Given the description of an element on the screen output the (x, y) to click on. 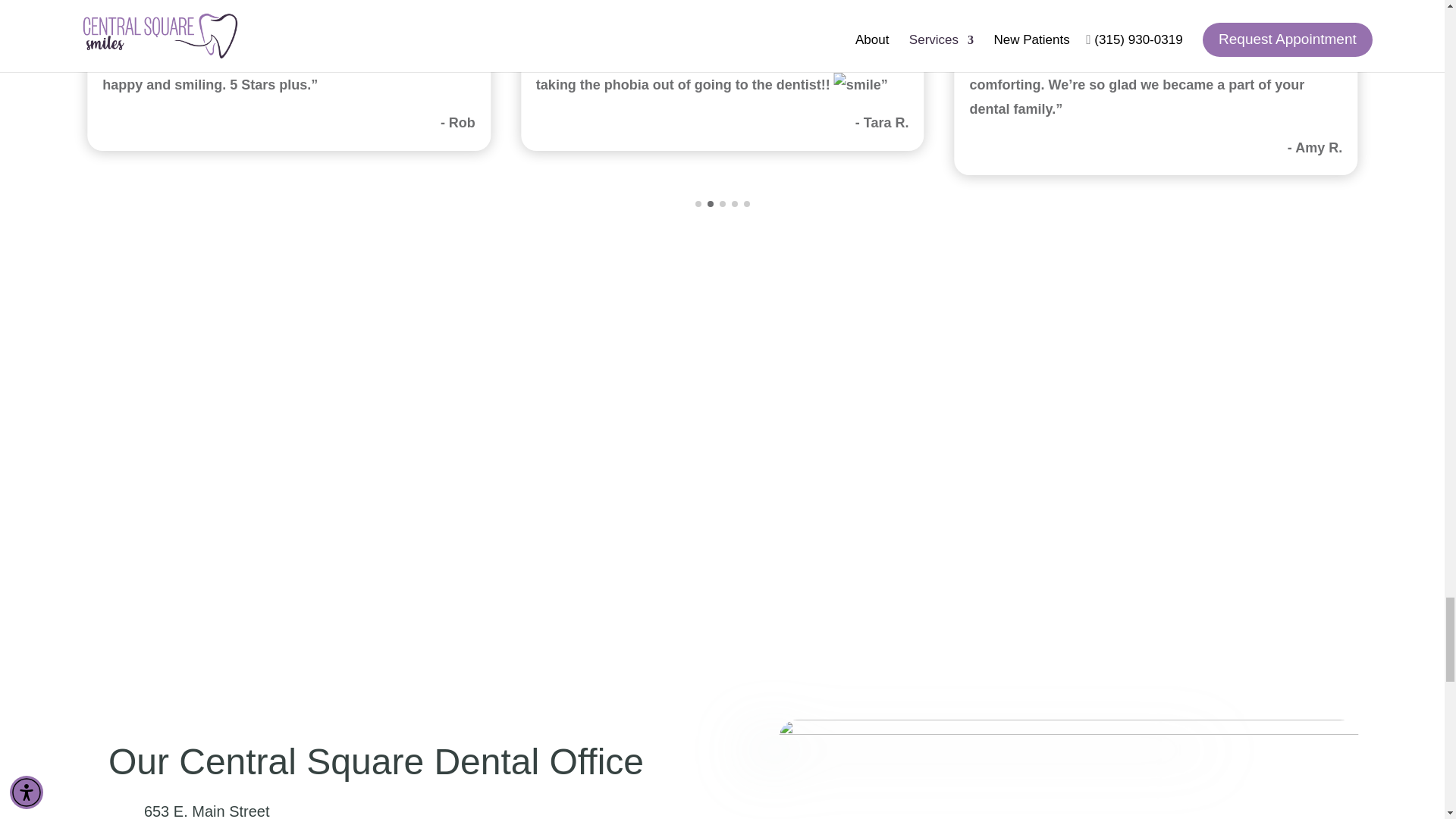
CentralSquareSmiles-office- (1068, 769)
Asset 10a (983, 780)
